Given the description of an element on the screen output the (x, y) to click on. 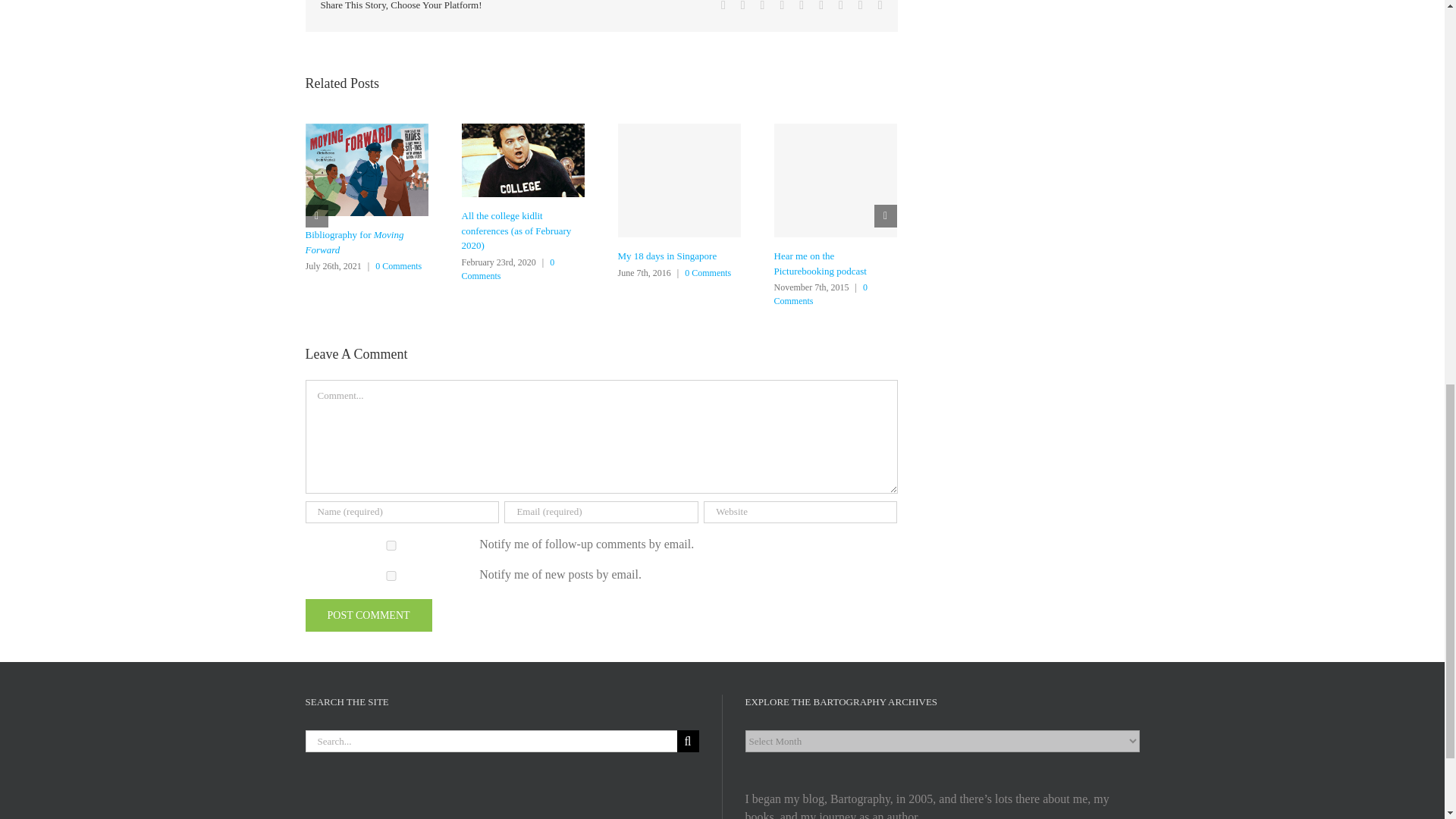
subscribe (390, 545)
My 18 days in Singapore (666, 255)
Post Comment (367, 614)
Bibliography for Moving Forward (353, 242)
Hear me on the Picturebooking podcast (819, 263)
subscribe (390, 575)
